Given the description of an element on the screen output the (x, y) to click on. 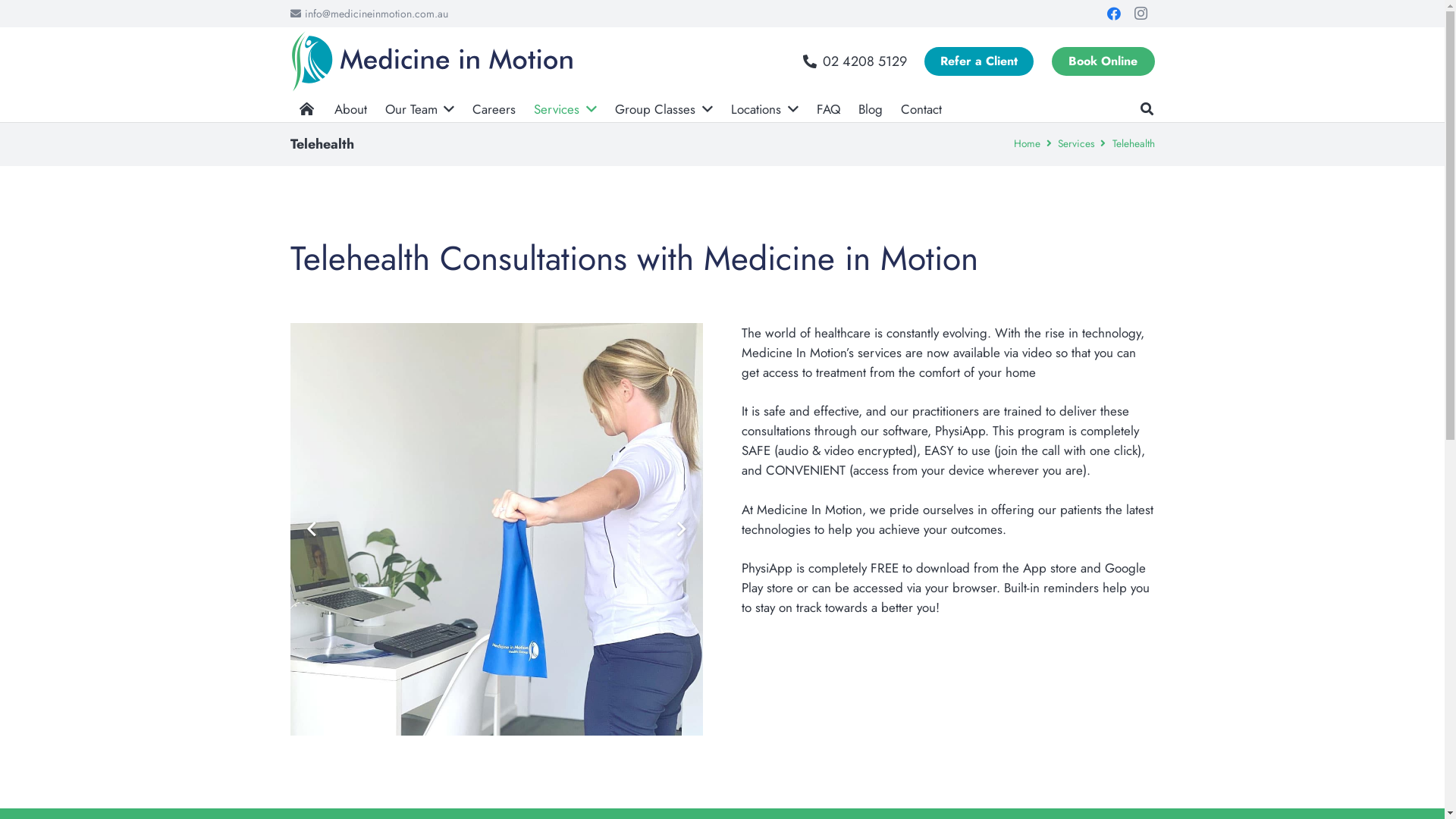
Services Element type: text (1075, 142)
info@medicineinmotion.com.au Element type: text (368, 13)
Privacy Policy Element type: text (721, 800)
Services Element type: text (564, 108)
Locations Element type: text (764, 108)
Blog Element type: text (870, 108)
Services Element type: hover (765, 615)
About Element type: text (350, 108)
Home Element type: text (1026, 142)
02 4208 5129 Element type: text (854, 61)
See Services Element type: text (815, 615)
Send an Email Element type: text (819, 507)
Contact Element type: text (920, 108)
Instagram Element type: hover (1140, 13)
Refer a Client Element type: text (978, 61)
FAQ Element type: text (828, 108)
Instagram Element type: hover (1032, 669)
Group Classes Element type: text (663, 108)
Locations Element type: hover (765, 579)
Our Team Element type: text (420, 108)
Email Element type: hover (1069, 669)
Group Classes Element type: hover (765, 652)
See Locations Element type: text (818, 579)
Book Online Element type: text (1102, 61)
02 4208 5129 Element type: text (821, 543)
Facebook Element type: hover (996, 669)
Telehealth Element type: text (1132, 142)
Careers Element type: text (493, 108)
See Classes Element type: text (813, 652)
Facebook Element type: hover (1112, 13)
Newcastle Creative Co. Element type: text (876, 777)
Book Online Element type: text (492, 652)
